Given the description of an element on the screen output the (x, y) to click on. 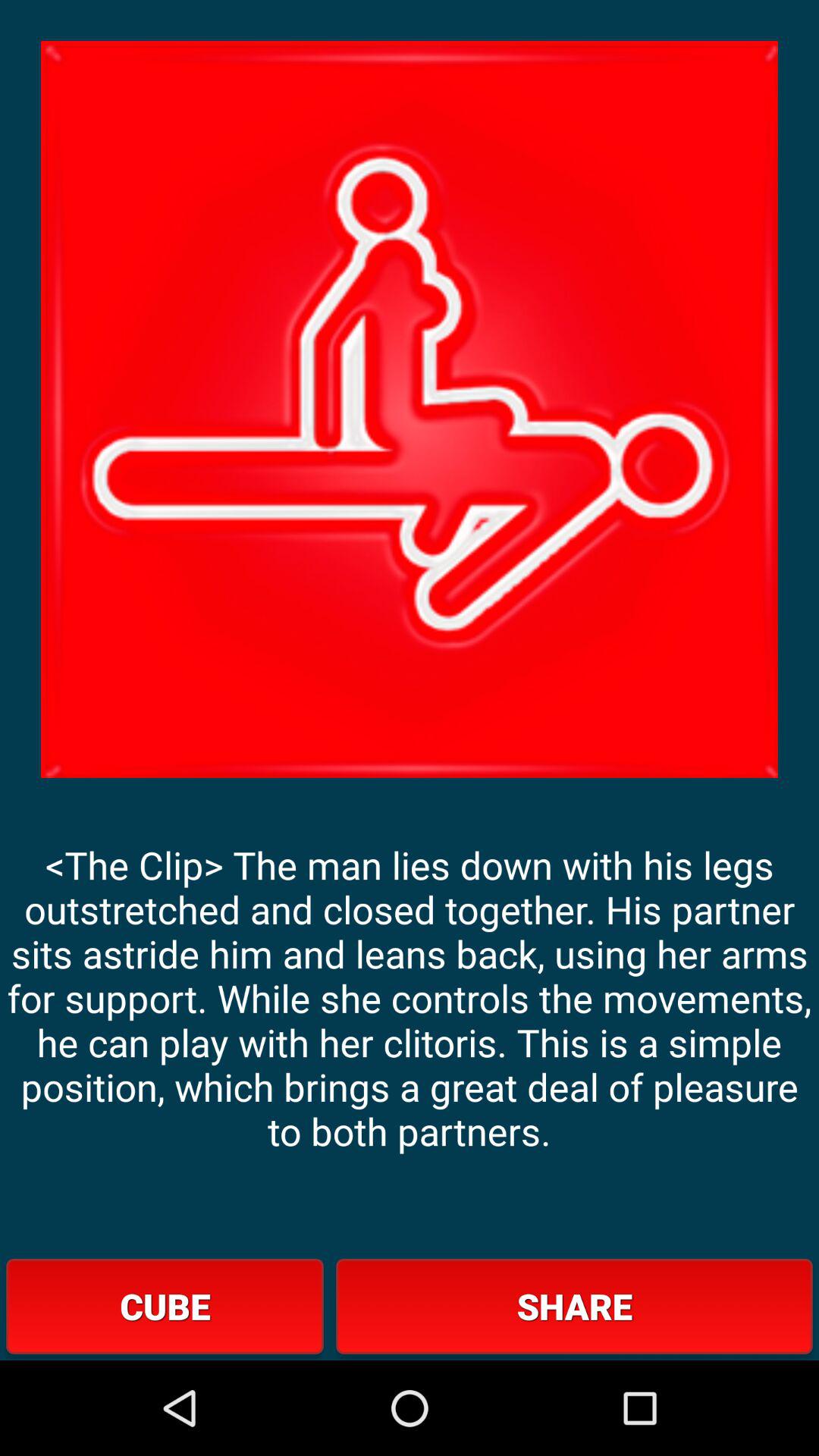
scroll to cube button (164, 1306)
